Given the description of an element on the screen output the (x, y) to click on. 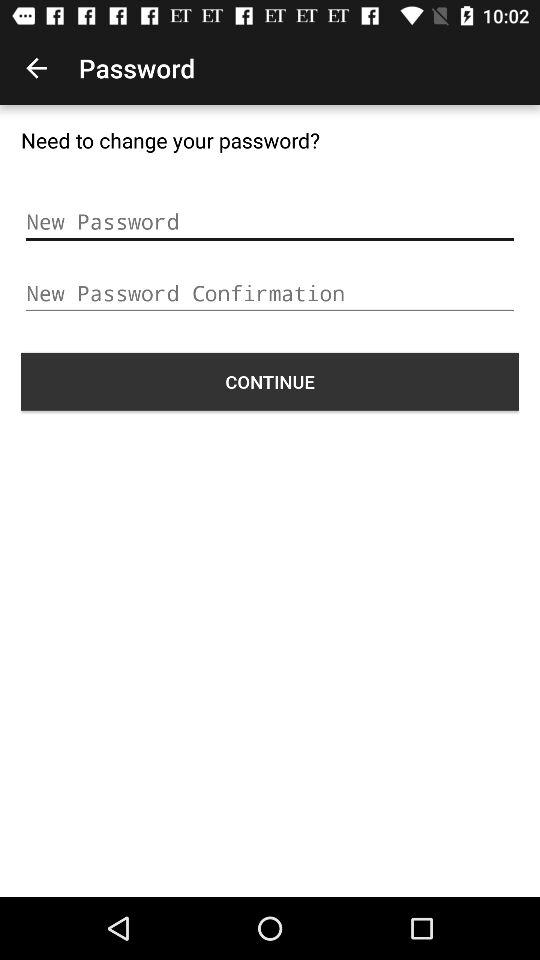
select continue icon (270, 381)
